Given the description of an element on the screen output the (x, y) to click on. 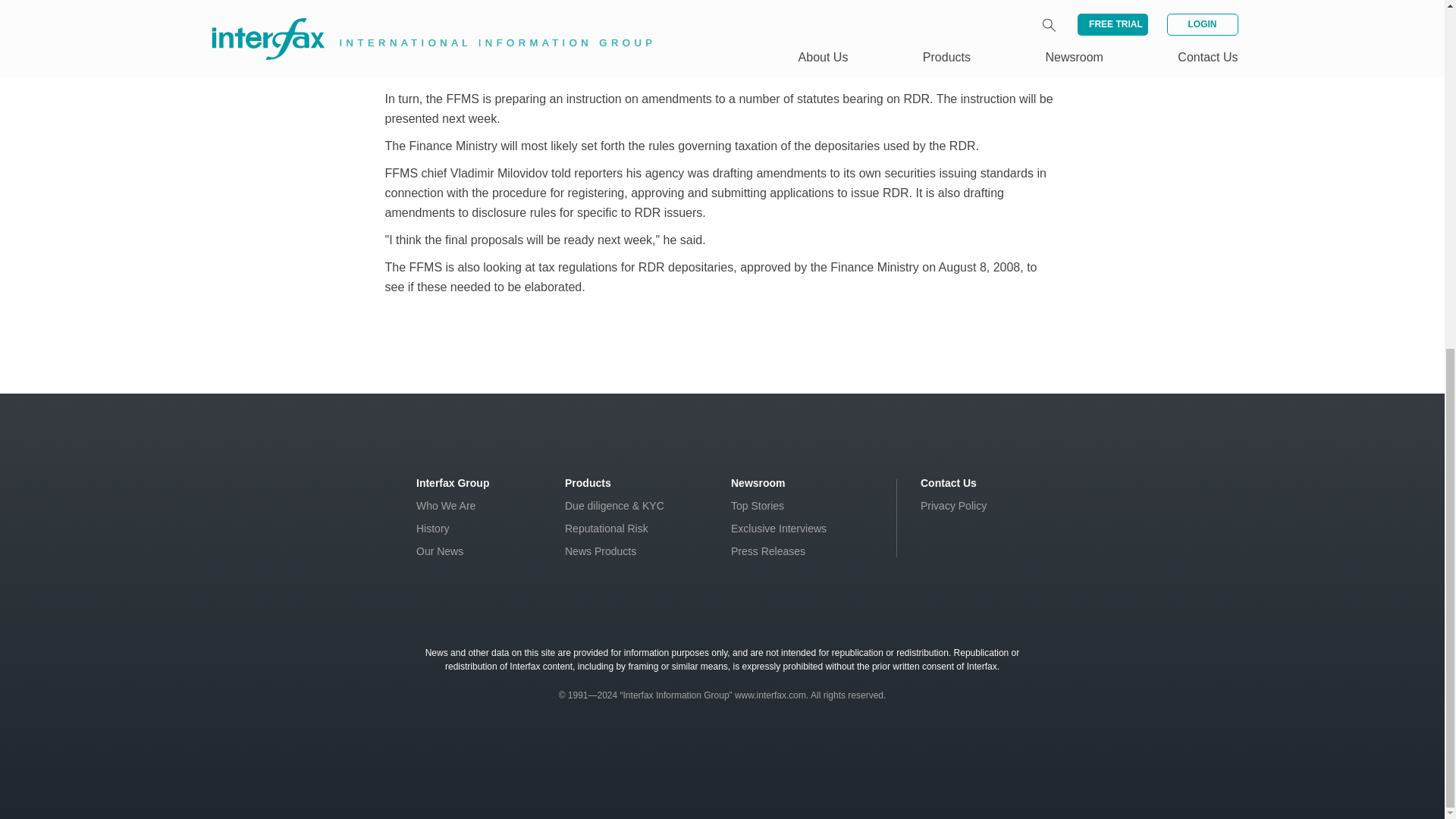
History (432, 528)
Interfax Group (452, 482)
Our News (439, 551)
Who We Are (446, 505)
